Given the description of an element on the screen output the (x, y) to click on. 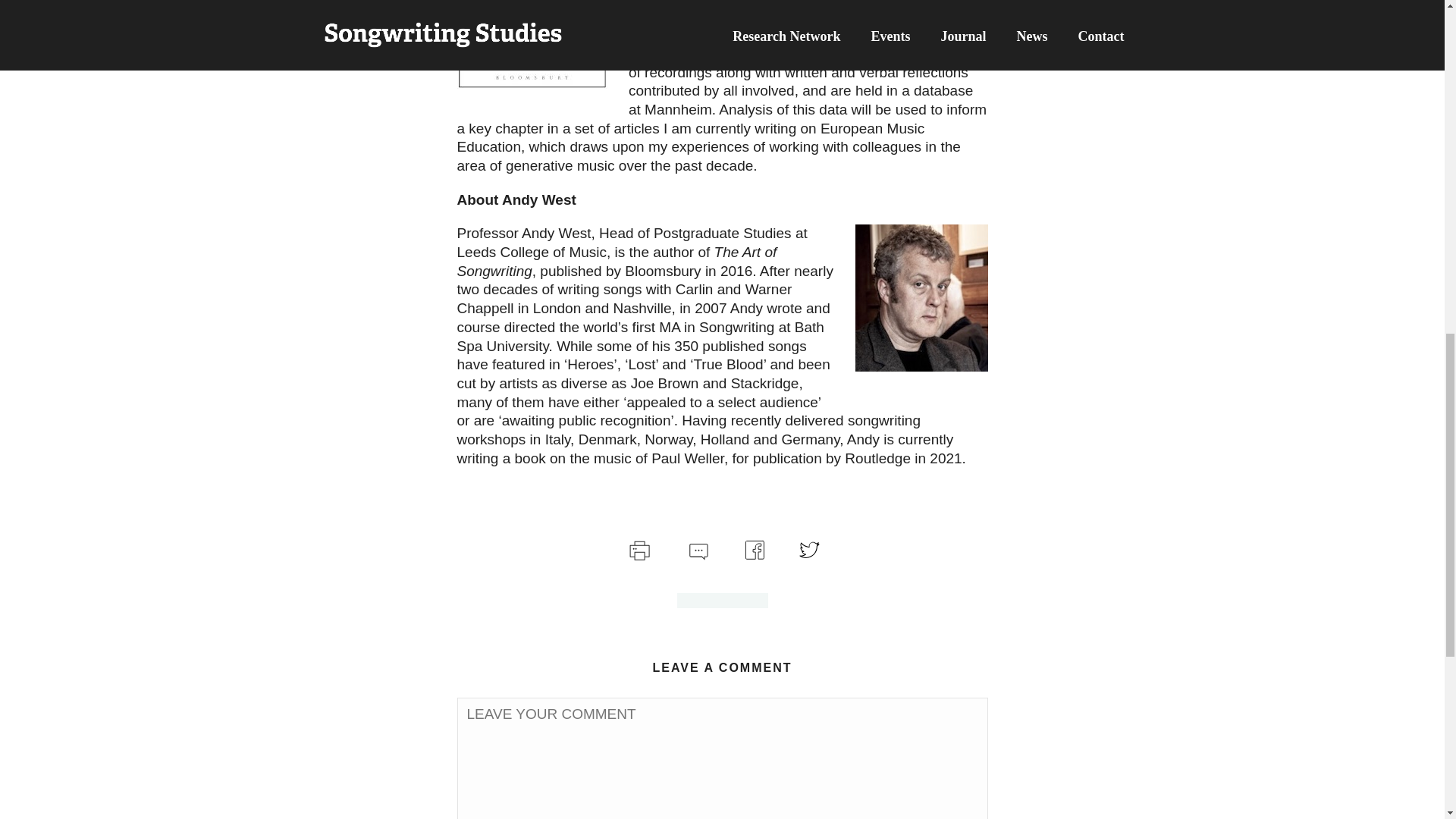
Print (638, 548)
